Given the description of an element on the screen output the (x, y) to click on. 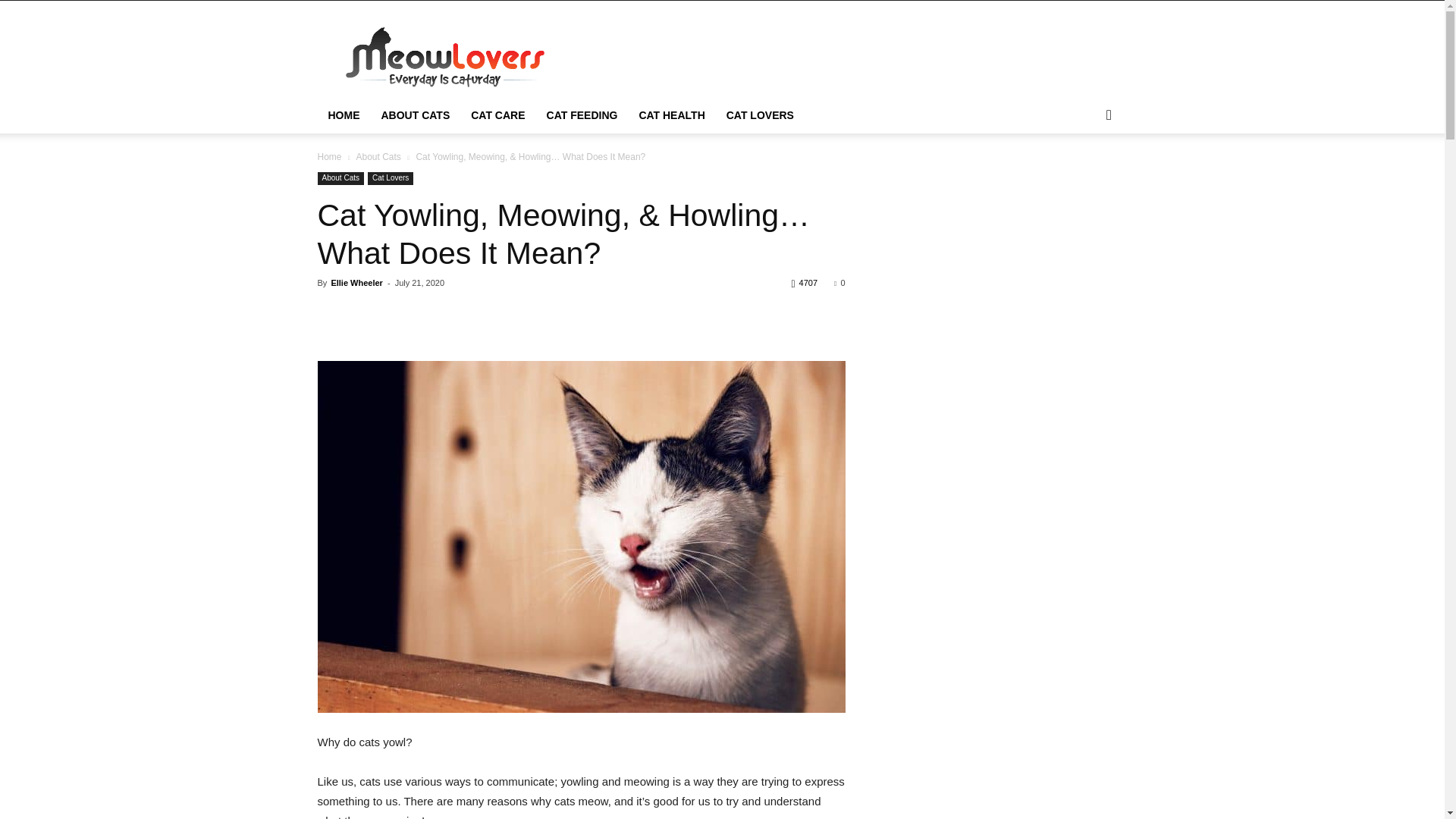
View all posts in About Cats (377, 156)
0 (839, 282)
Cat Lovers (390, 178)
Ellie Wheeler (355, 282)
CAT LOVERS (760, 115)
ABOUT CATS (414, 115)
CAT FEEDING (581, 115)
About Cats (377, 156)
HOME (343, 115)
